Given the description of an element on the screen output the (x, y) to click on. 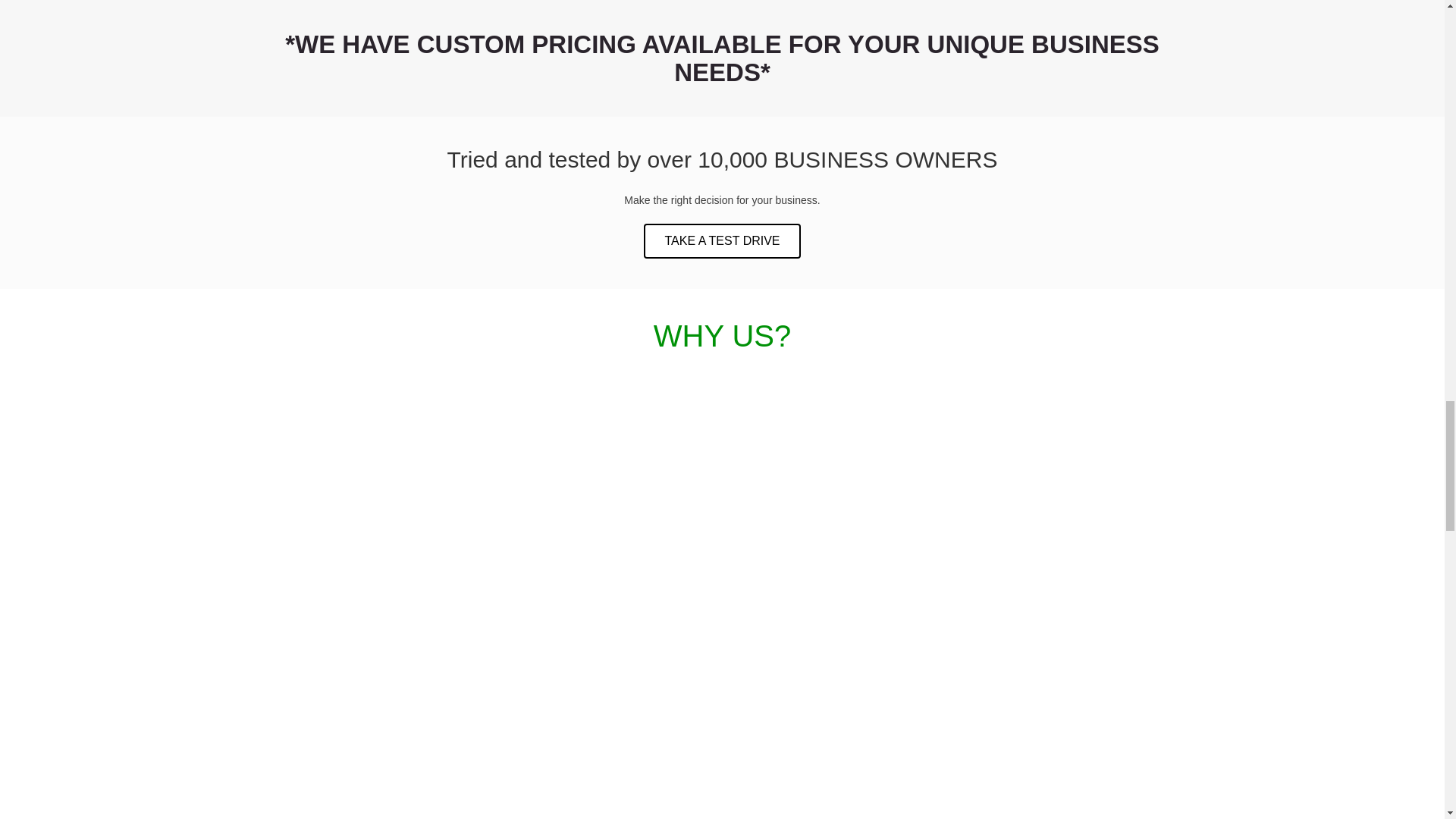
TAKE A TEST DRIVE (721, 240)
